Given the description of an element on the screen output the (x, y) to click on. 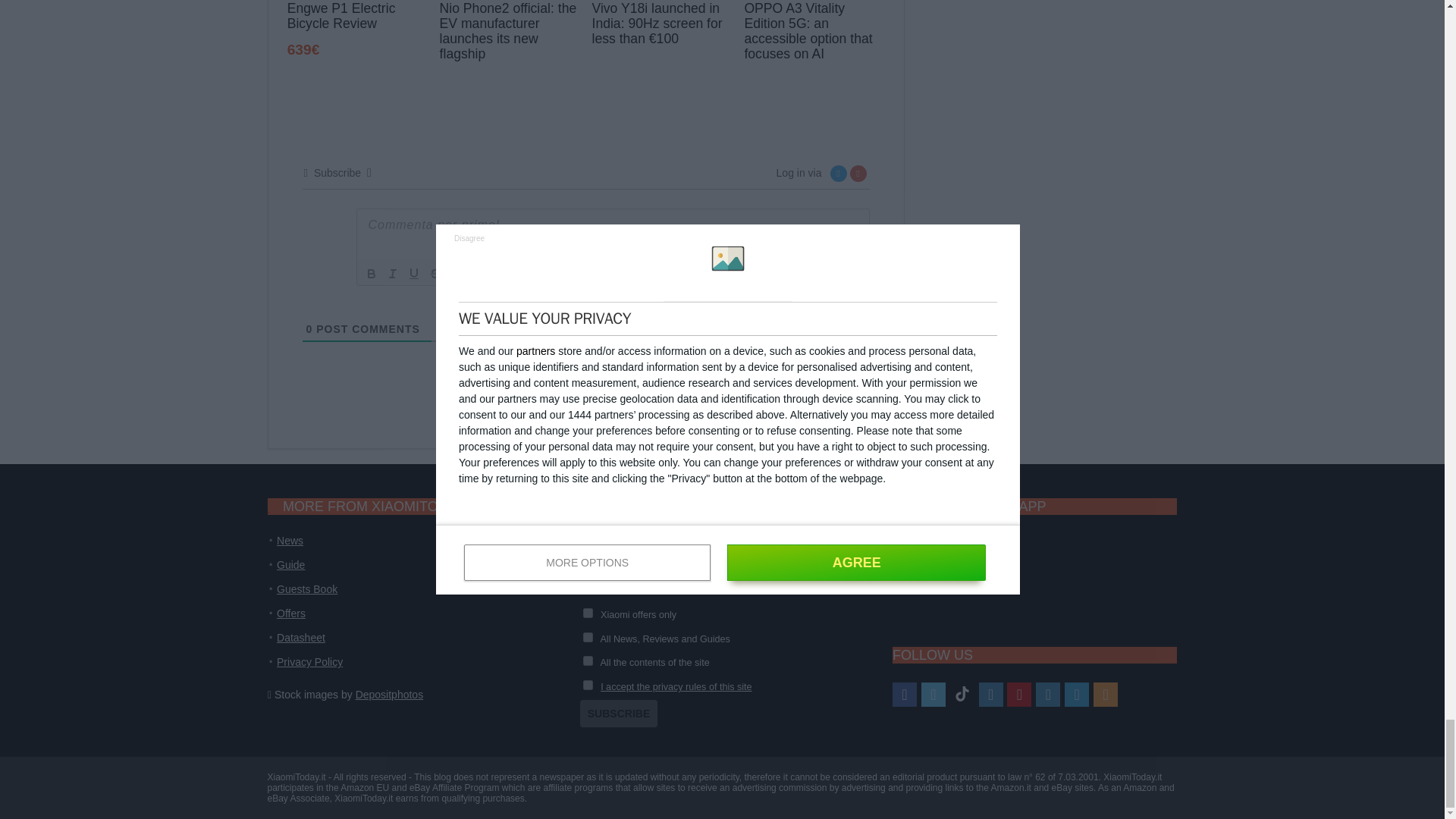
16 (587, 660)
SUBSCRIBE (618, 713)
on (587, 685)
5 (587, 588)
15 (587, 637)
14 (587, 613)
